Given the description of an element on the screen output the (x, y) to click on. 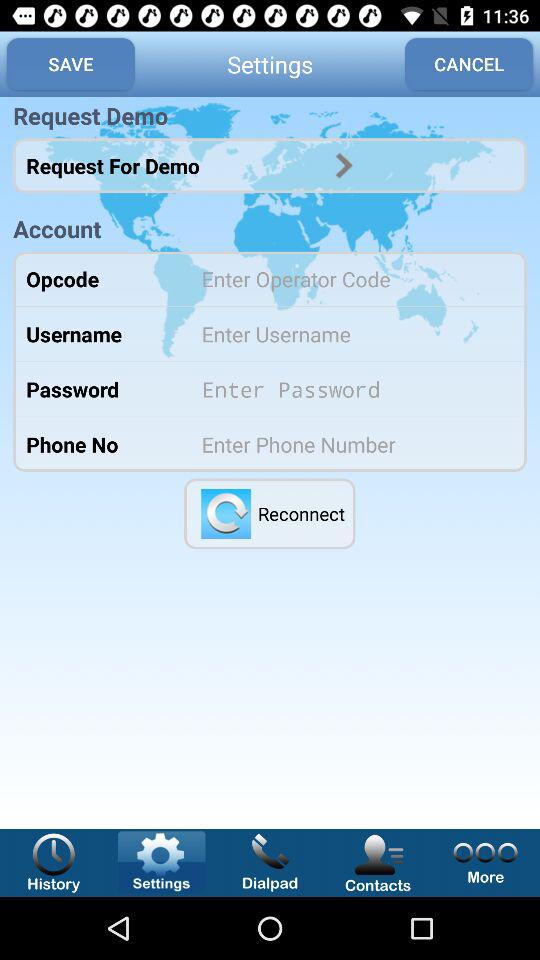
reconnect settings (226, 513)
